Given the description of an element on the screen output the (x, y) to click on. 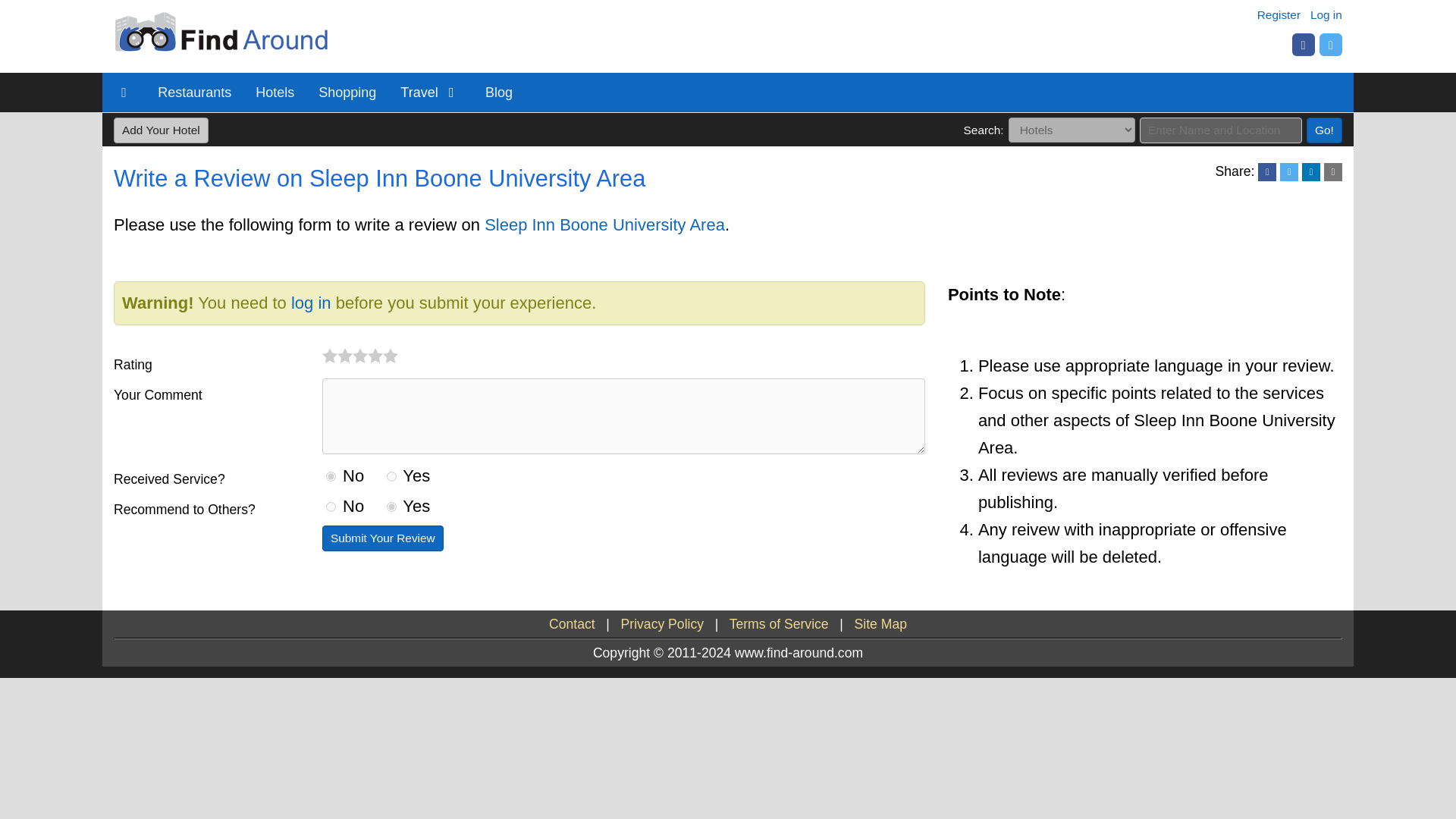
log in (311, 302)
Site map (880, 623)
Terms of services (778, 623)
Blog (498, 92)
Hotels (274, 92)
Privacy Policy (662, 623)
Contact (571, 623)
Blog (498, 92)
False (331, 506)
Go! (1324, 130)
